Given the description of an element on the screen output the (x, y) to click on. 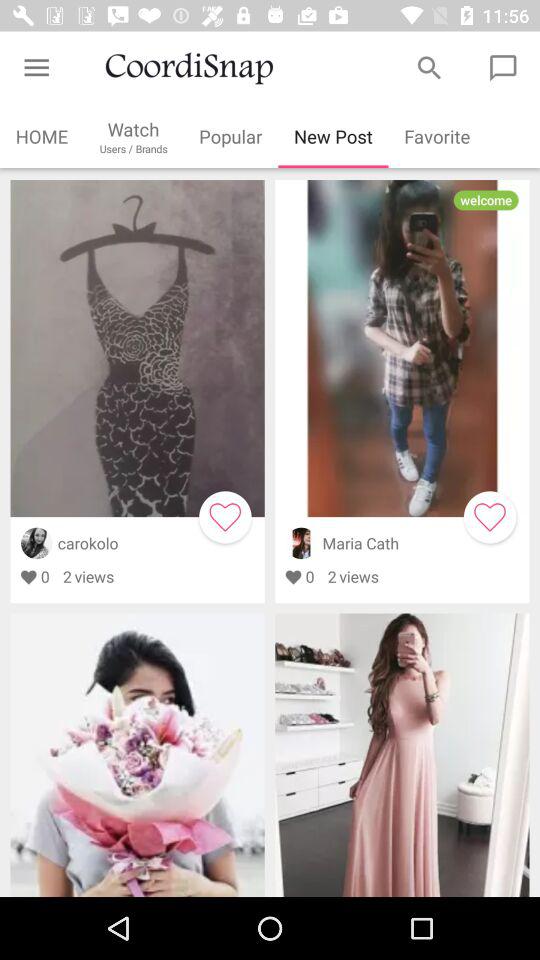
choose the item above the home item (36, 68)
